Given the description of an element on the screen output the (x, y) to click on. 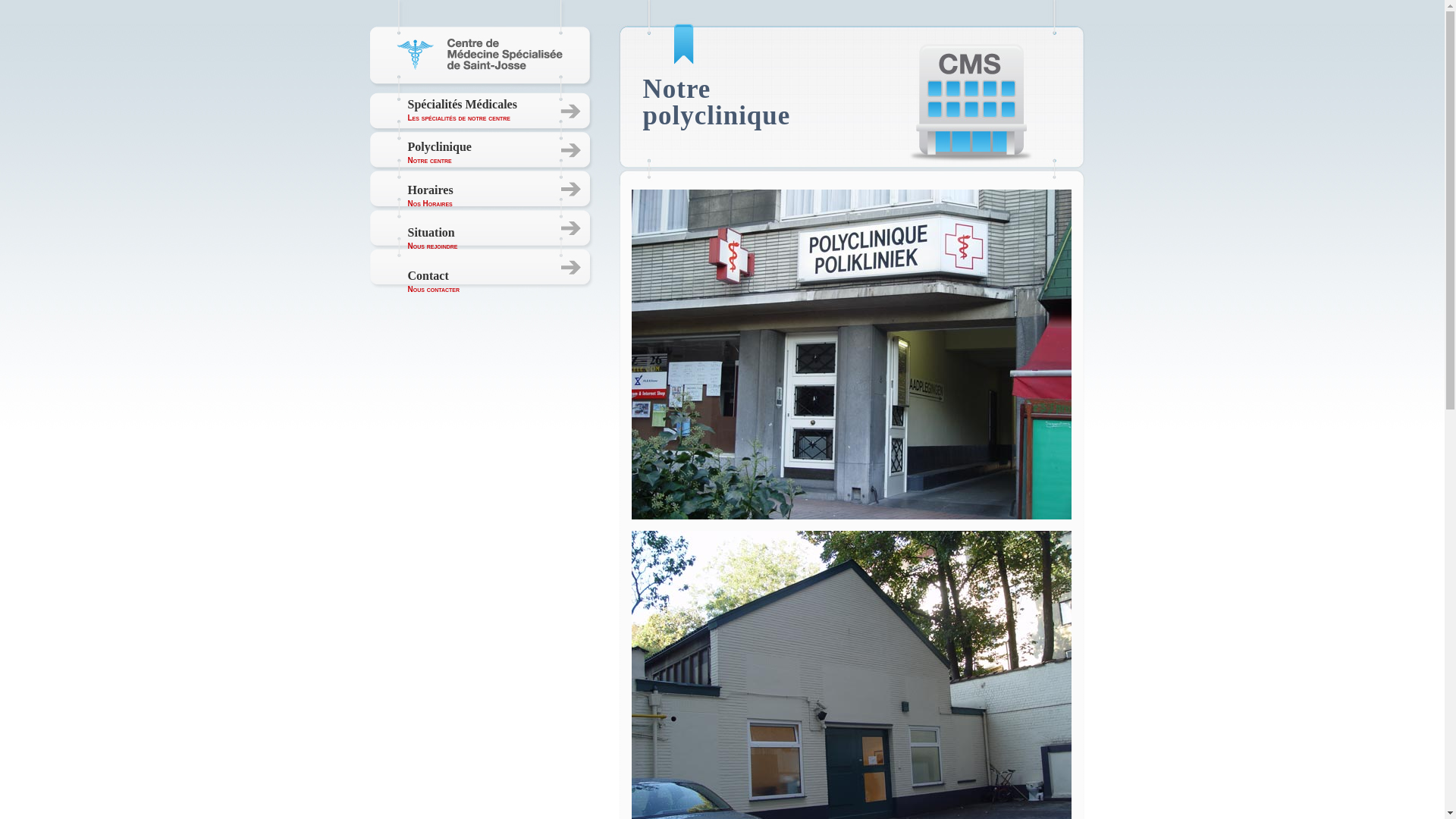
Contact
Nous contacter Element type: text (433, 281)
Horaires
Nos Horaires Element type: text (430, 195)
Polyclinique
Notre centre Element type: text (439, 152)
Situation
Nous rejoindre Element type: text (432, 238)
